Given the description of an element on the screen output the (x, y) to click on. 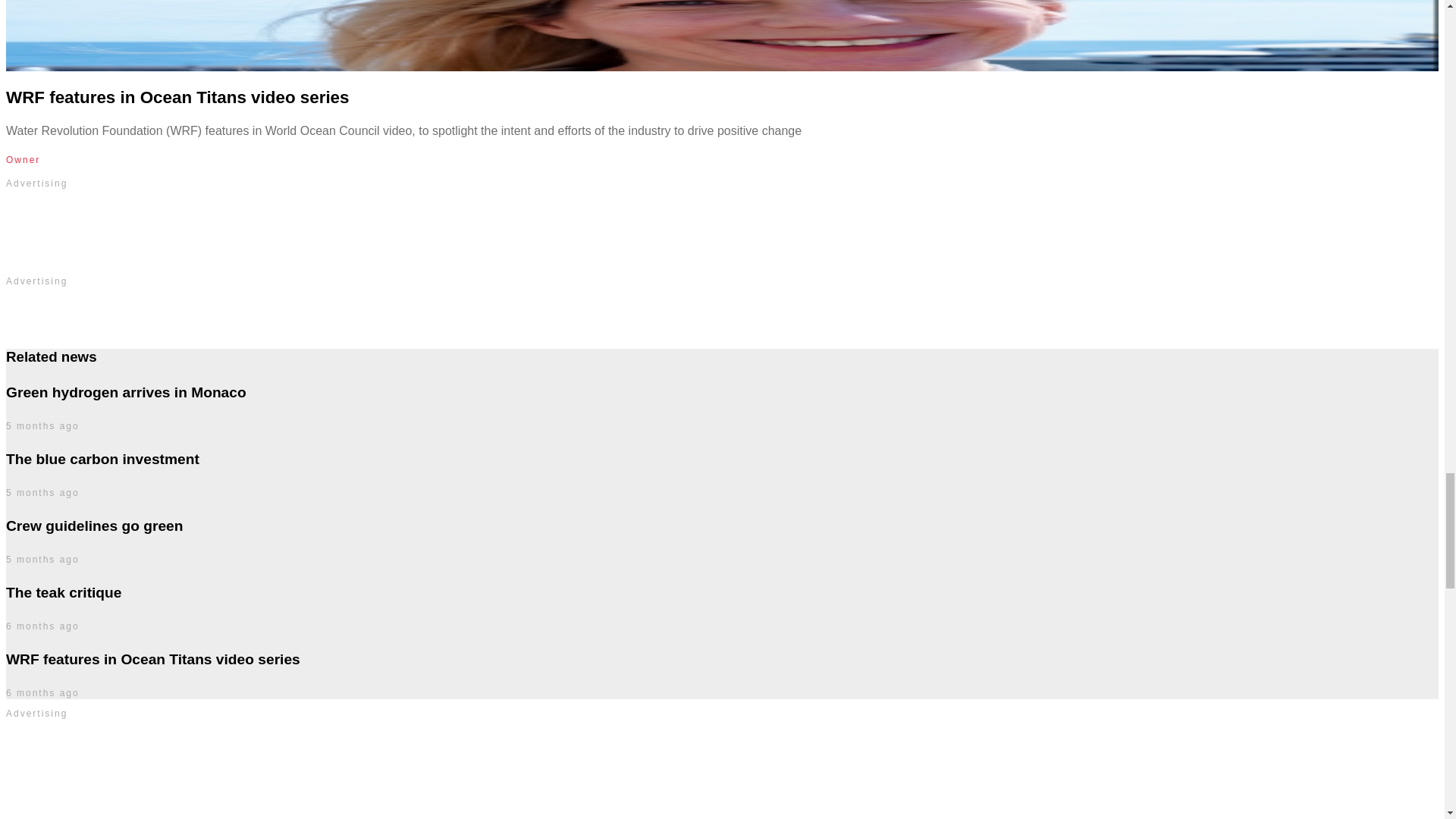
3rd party ad content (721, 232)
WRF features in Ocean Titans video series (177, 97)
3rd party ad content (721, 773)
Green hydrogen arrives in Monaco (125, 392)
3rd party ad content (721, 315)
